Given the description of an element on the screen output the (x, y) to click on. 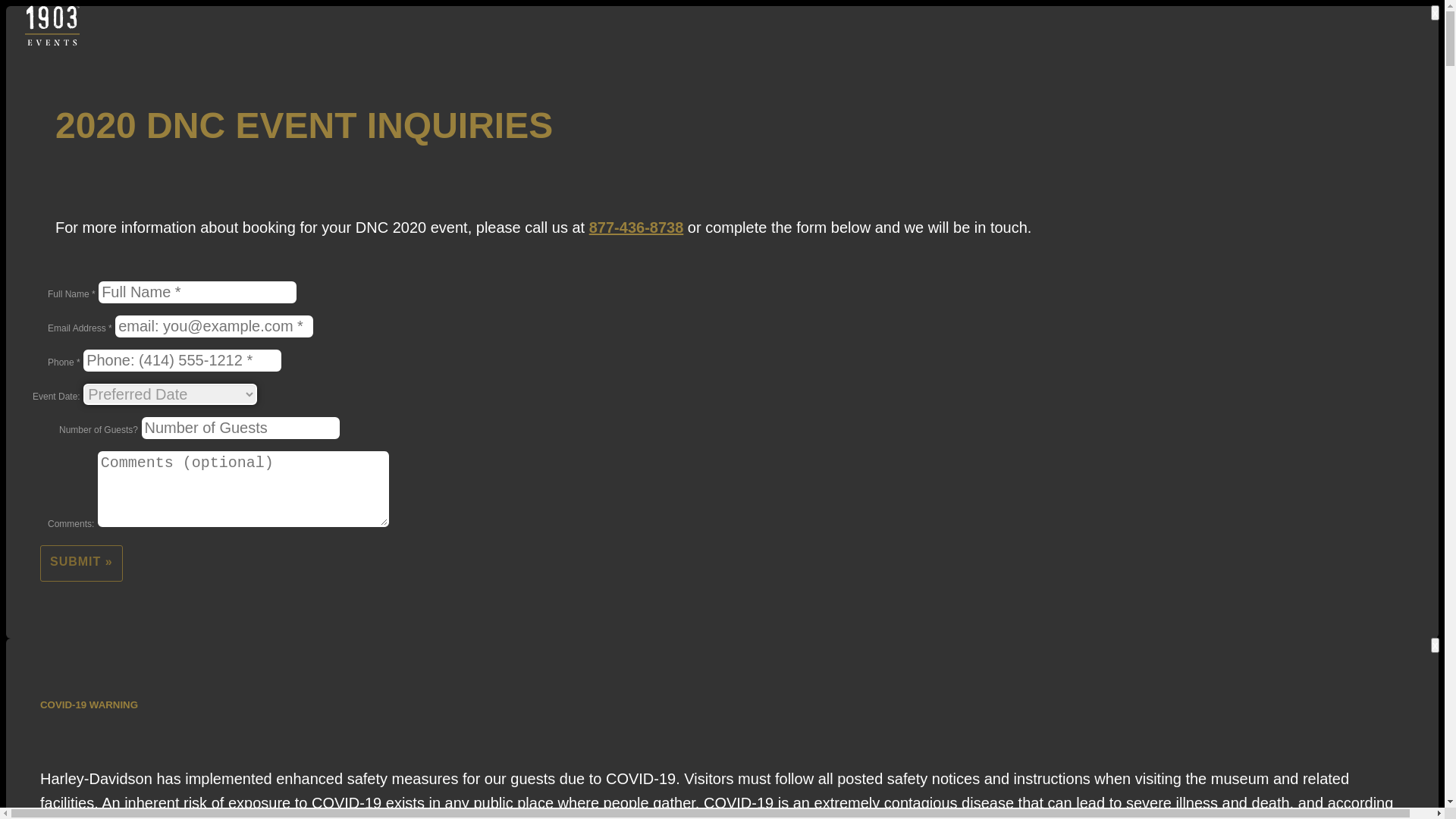
x Element type: text (1434, 12)
x Element type: text (1434, 644)
877-436-8738 Element type: text (636, 219)
